Given the description of an element on the screen output the (x, y) to click on. 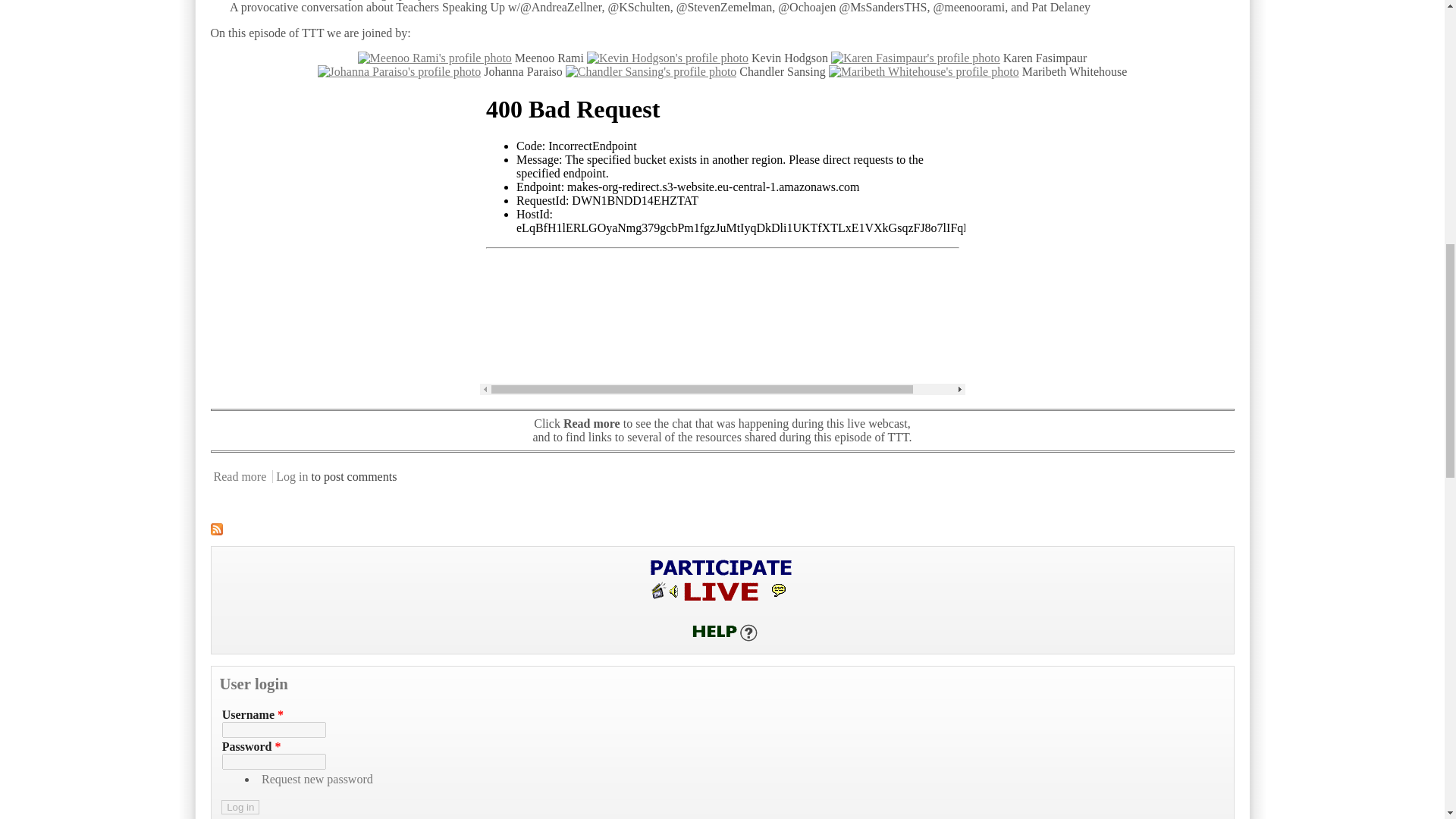
Log in (240, 807)
